Given the description of an element on the screen output the (x, y) to click on. 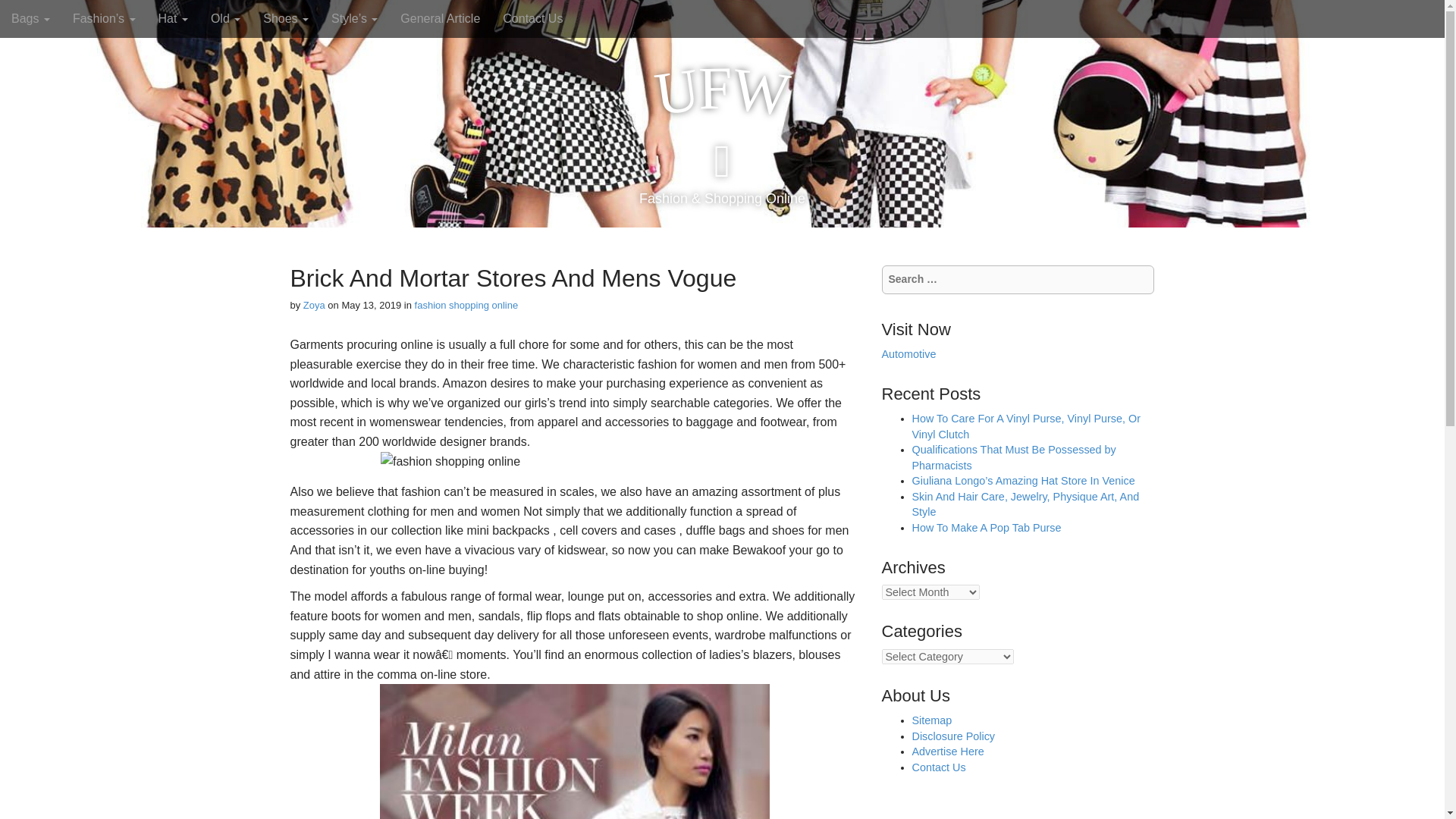
General Article (440, 18)
Old (225, 18)
fashion shopping online (466, 305)
Posts by Zoya (313, 305)
Zoya (313, 305)
Shoes (285, 18)
Hat (173, 18)
Contact Us (532, 18)
May 13, 2019 (370, 305)
Bags (30, 18)
